Given the description of an element on the screen output the (x, y) to click on. 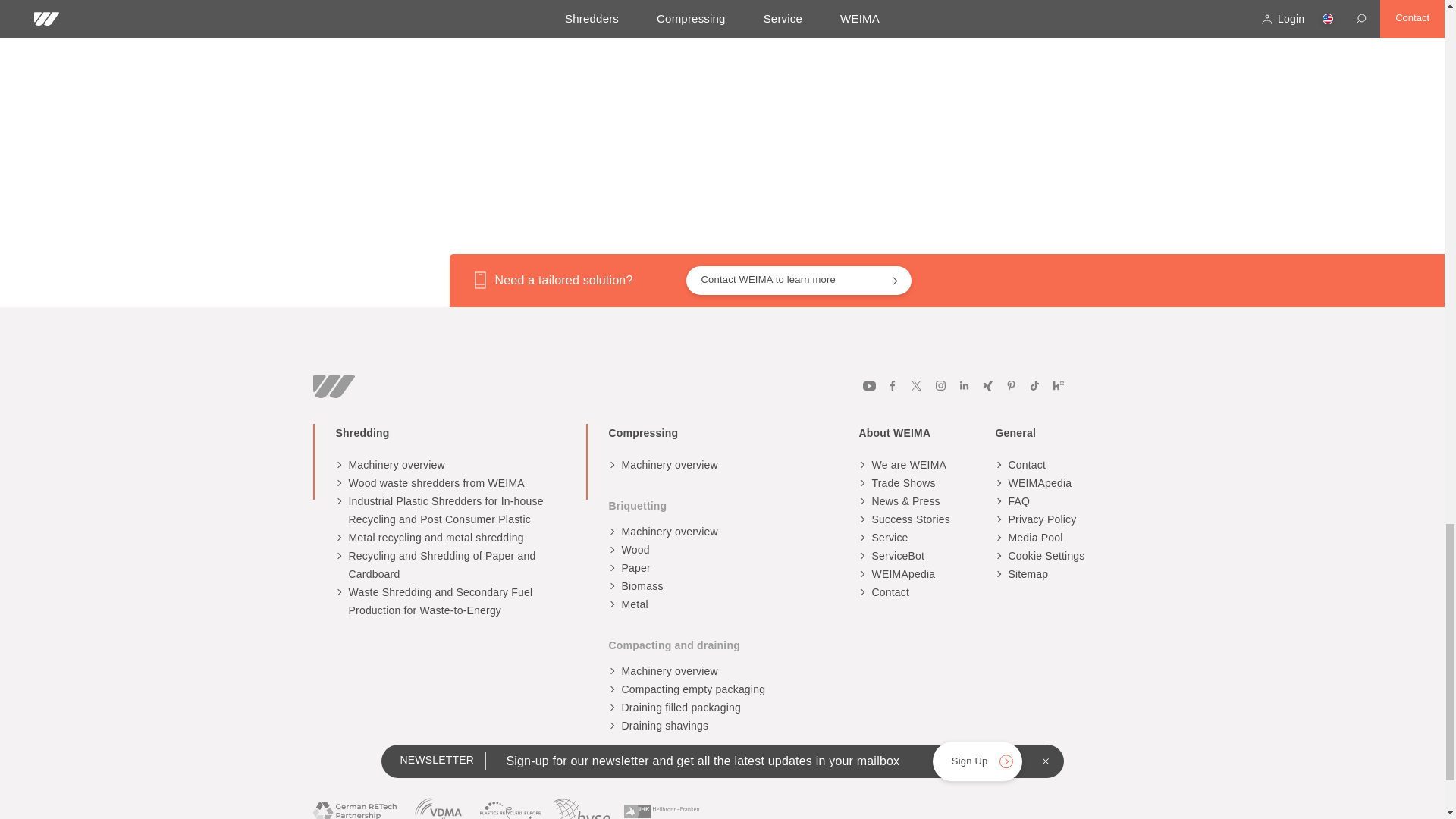
bvse (581, 807)
German RETech Partnership (354, 810)
VDMA (437, 807)
Heilbronn-Franken (660, 807)
Plastics Recyclers Europe (509, 807)
